Given the description of an element on the screen output the (x, y) to click on. 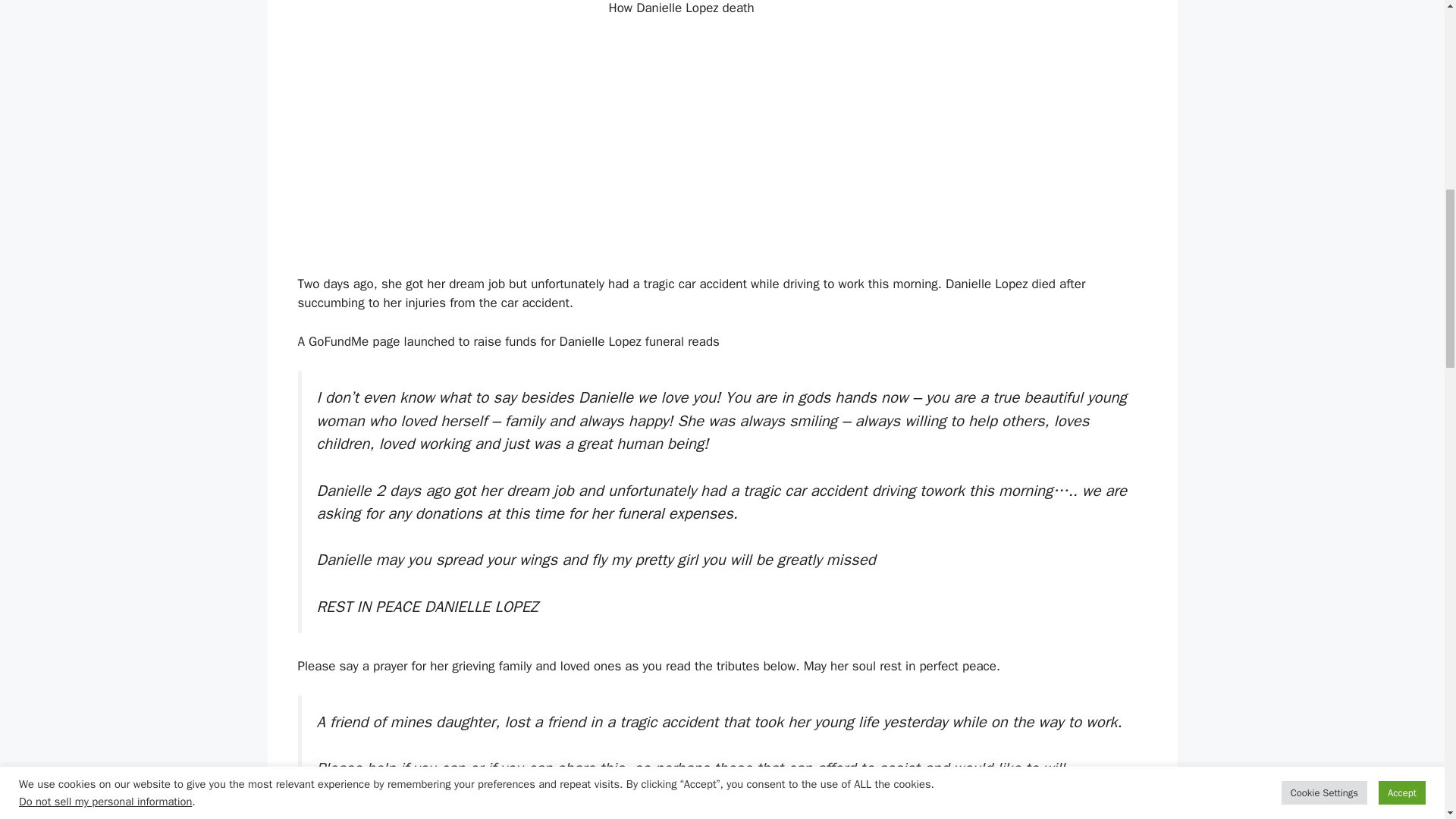
Scroll back to top (1406, 720)
